Given the description of an element on the screen output the (x, y) to click on. 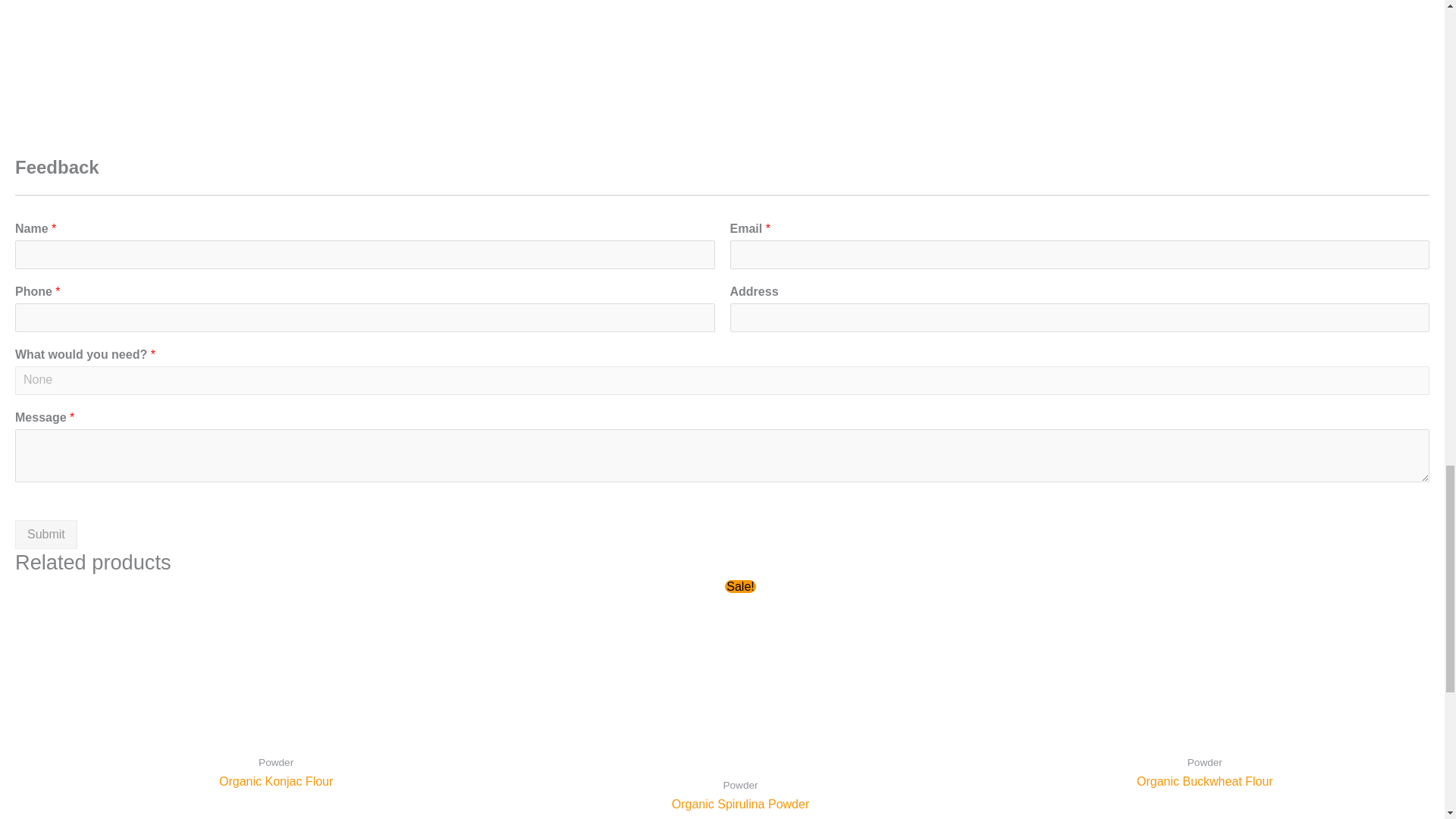
Organic Konjac Flour (275, 781)
Organic Buckwheat Flour (1204, 781)
Organic Spirulina Powder (740, 804)
Submit (45, 534)
Organic Barley Grass Powder 2 (469, 67)
